Given the description of an element on the screen output the (x, y) to click on. 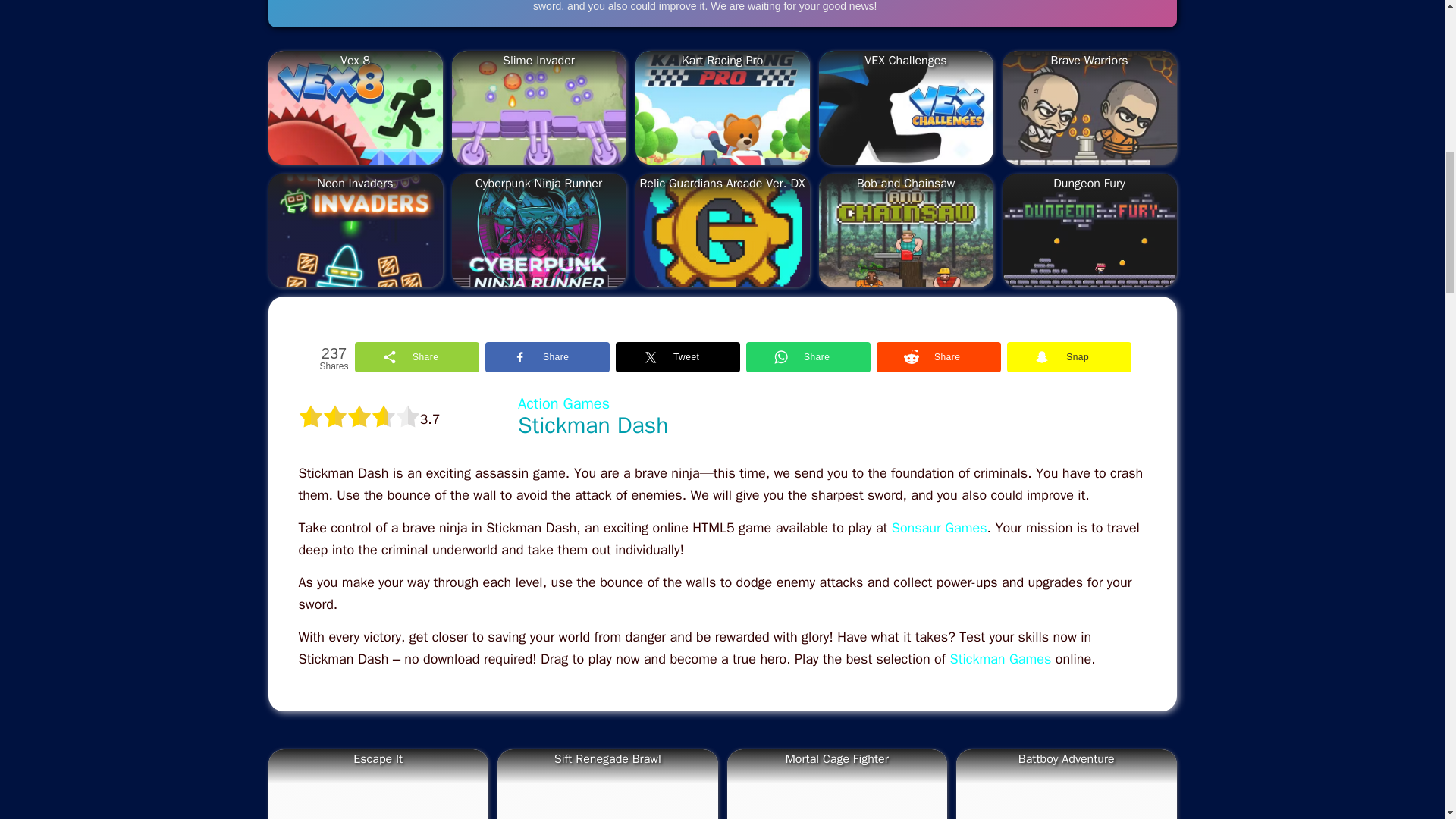
Vex 8 (354, 60)
Kart Racing Pro (721, 60)
Brave Warriors (1089, 60)
Neon Invaders (355, 183)
Slime Invader (538, 60)
VEX Challenges (905, 60)
